Given the description of an element on the screen output the (x, y) to click on. 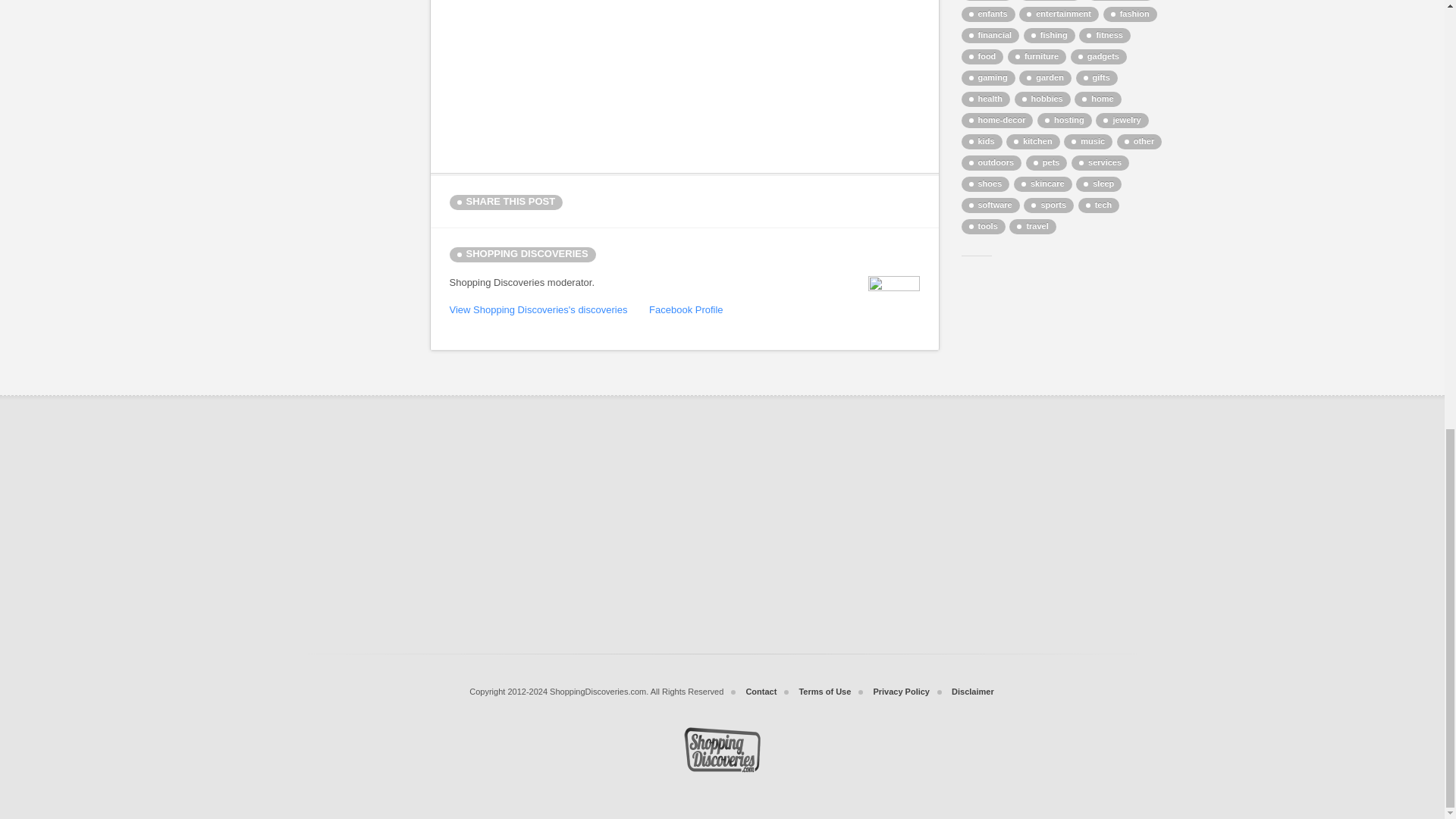
entertainment (1059, 14)
electronics (1120, 0)
View Shopping Discoveries's discoveries (537, 309)
fashion (1130, 14)
education (1049, 0)
Facebook Profile (686, 309)
cycling (987, 0)
enfants (987, 14)
